Given the description of an element on the screen output the (x, y) to click on. 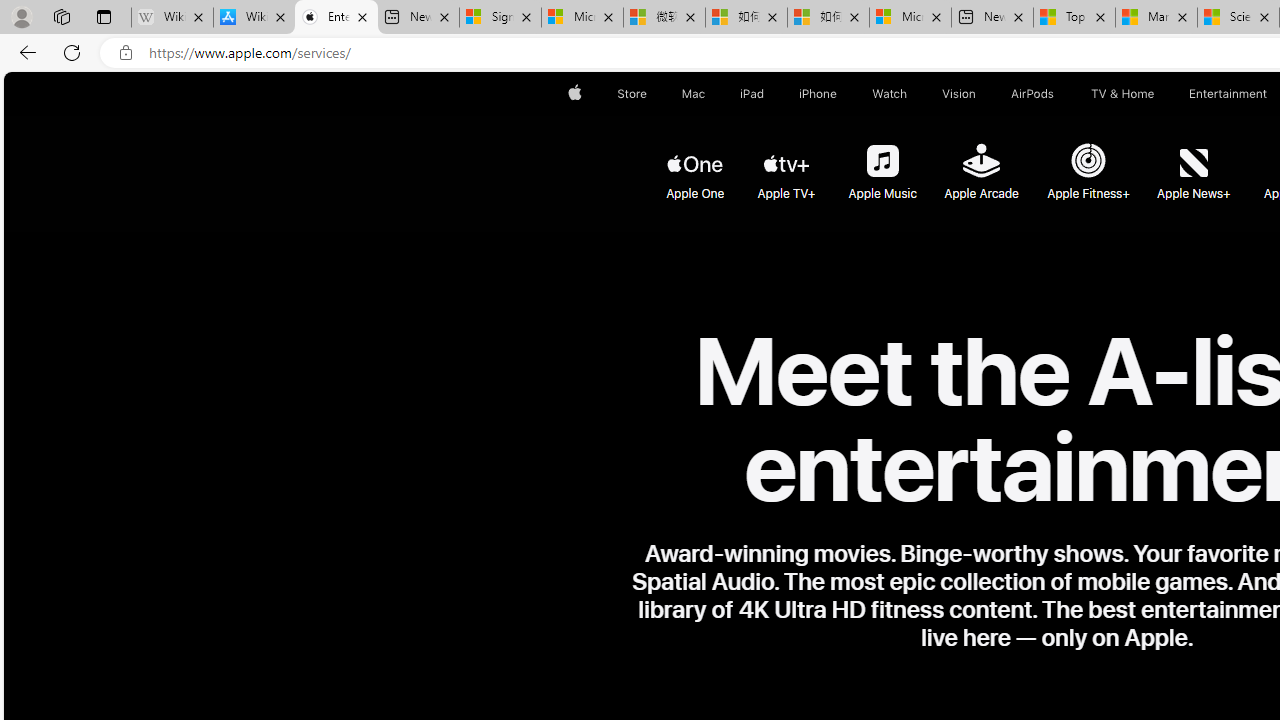
iPhone (818, 93)
Vision (959, 93)
Mac (692, 93)
Store (631, 93)
Apple TV+ (786, 164)
Mac (692, 93)
AirPods (1032, 93)
Apple Music (881, 162)
Apple Music (881, 164)
Apple TV+ (788, 162)
AirPods menu (1058, 93)
Mac menu (708, 93)
